Given the description of an element on the screen output the (x, y) to click on. 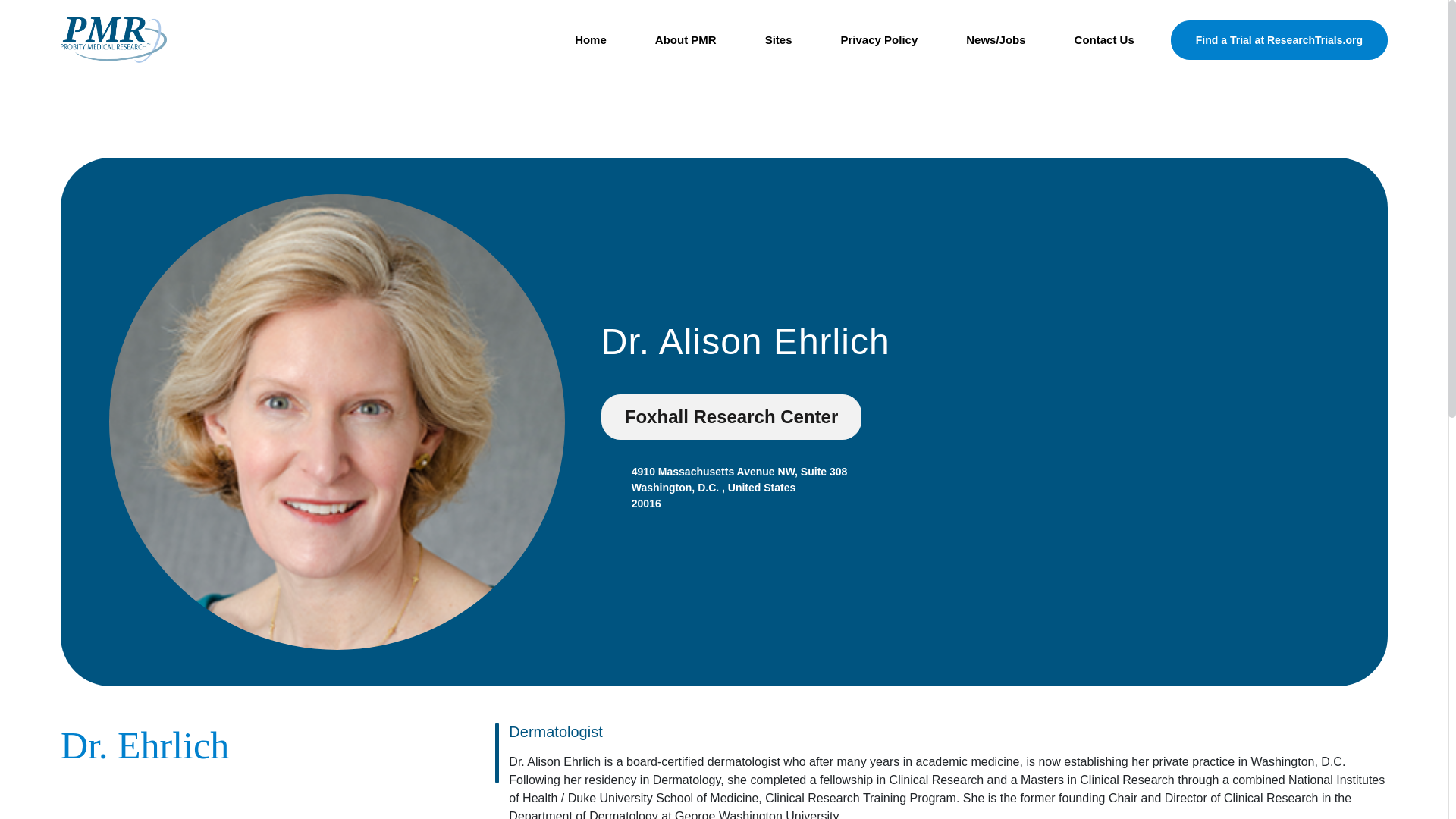
Contact Us (1103, 40)
Find a Trial at ResearchTrials.org (1278, 39)
Home (590, 40)
About PMR (685, 40)
Sites (778, 40)
Privacy Policy (878, 40)
Foxhall Research Center (731, 416)
